Given the description of an element on the screen output the (x, y) to click on. 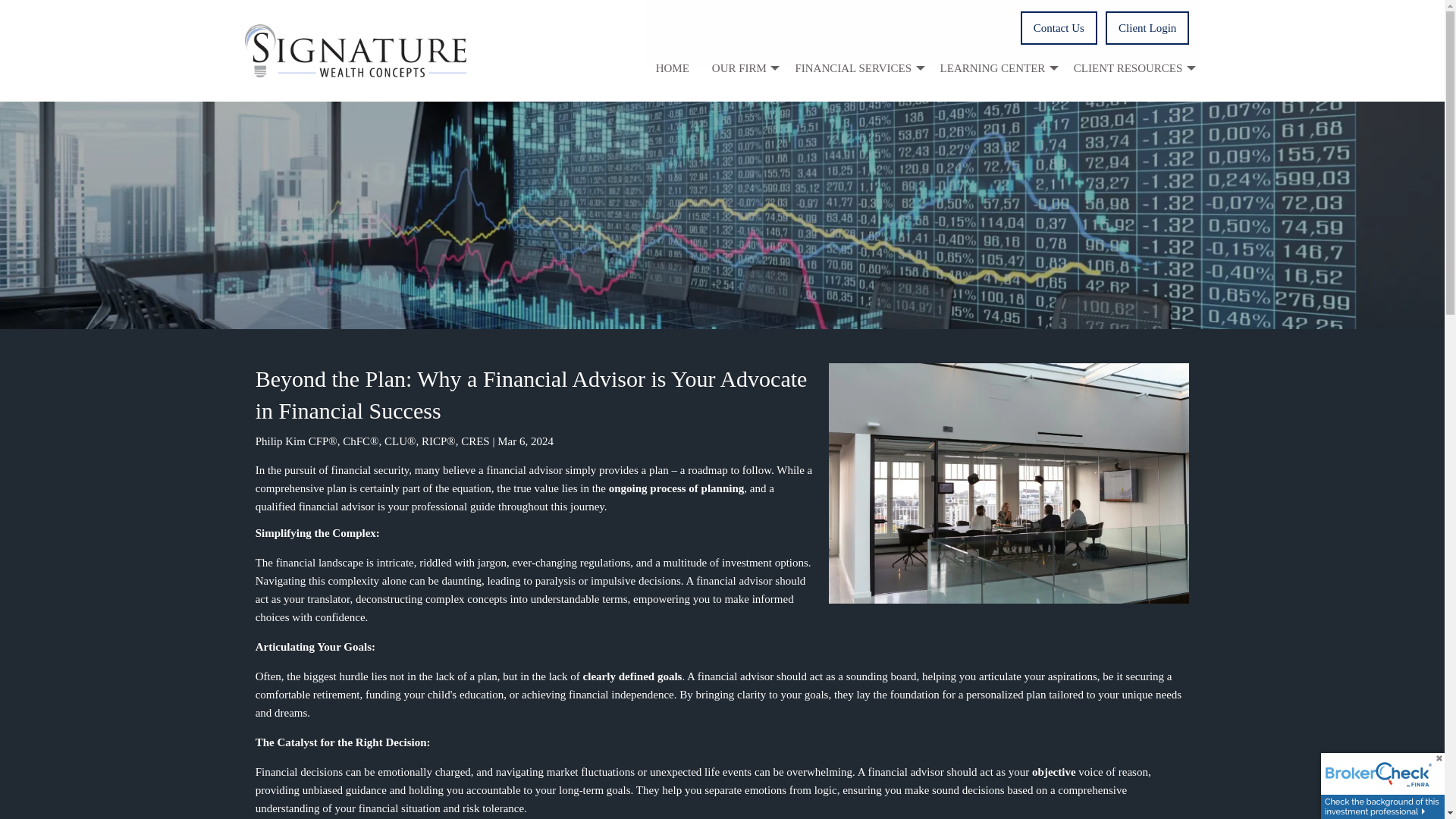
Client Login (1147, 28)
HOME (672, 67)
LEARNING CENTER (995, 67)
Contact Us (1058, 28)
CLIENT RESOURCES (1130, 67)
Contact Us (1058, 28)
FINANCIAL SERVICES (855, 67)
OUR FIRM (742, 67)
client login (1147, 28)
